Given the description of an element on the screen output the (x, y) to click on. 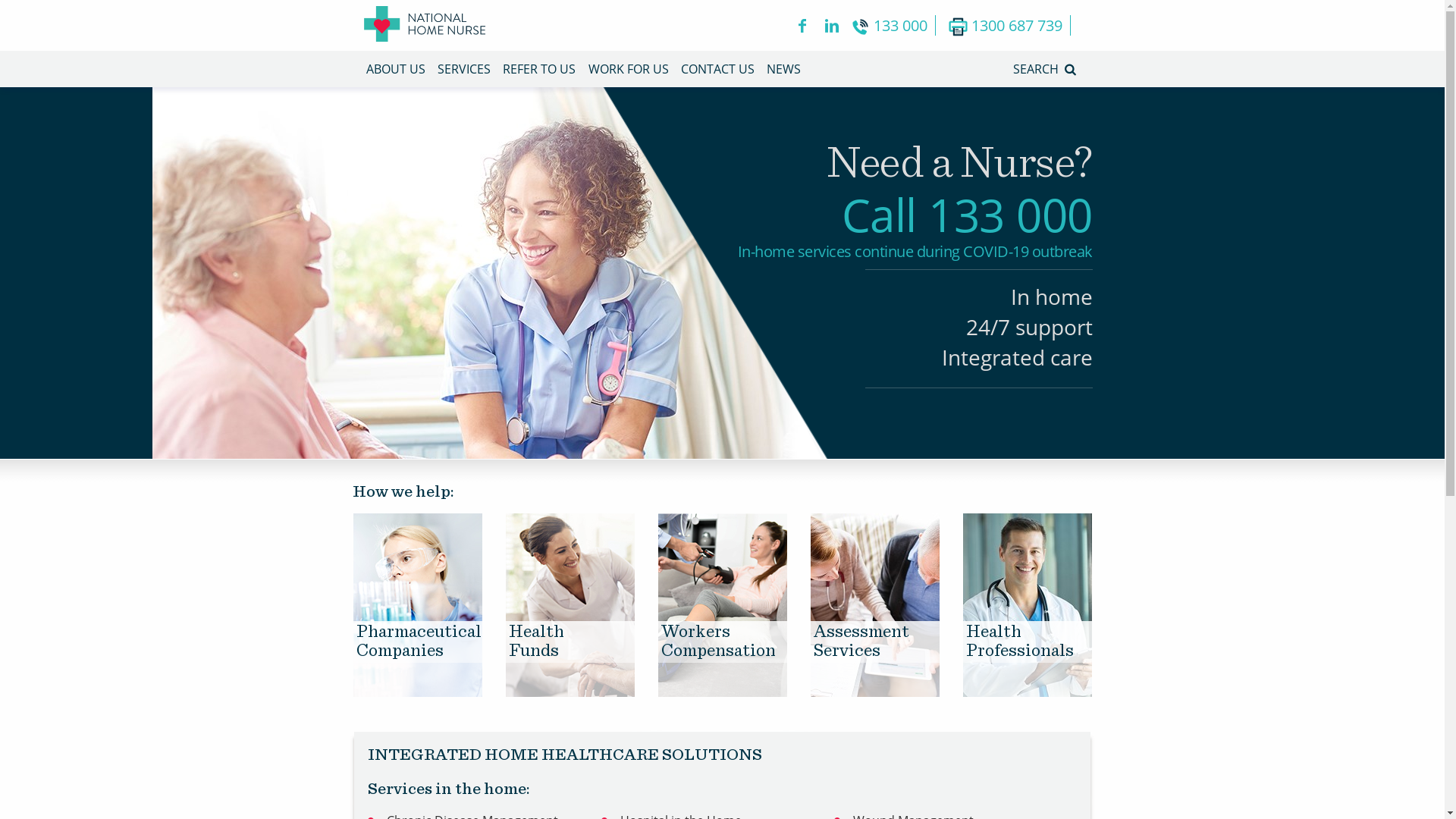
Call 133 000 Element type: text (966, 214)
Assessment Services Element type: text (885, 692)
SEARCH Element type: text (1045, 68)
NEWS Element type: text (783, 68)
ABOUT US Element type: text (394, 68)
National Home Nurse Element type: hover (424, 25)
Health
Funds Element type: text (581, 692)
Pharmaceutical Companies Element type: text (429, 692)
133 000 Element type: text (892, 25)
In-home services continue during COVID-19 outbreak Element type: text (914, 251)
CONTACT US Element type: text (717, 68)
SERVICES Element type: text (463, 68)
Health Professionals Element type: text (1027, 692)
Workers Compensation Element type: text (734, 692)
1300 687 739 Element type: text (1008, 25)
REFER TO US Element type: text (538, 68)
WORK FOR US Element type: text (628, 68)
